Given the description of an element on the screen output the (x, y) to click on. 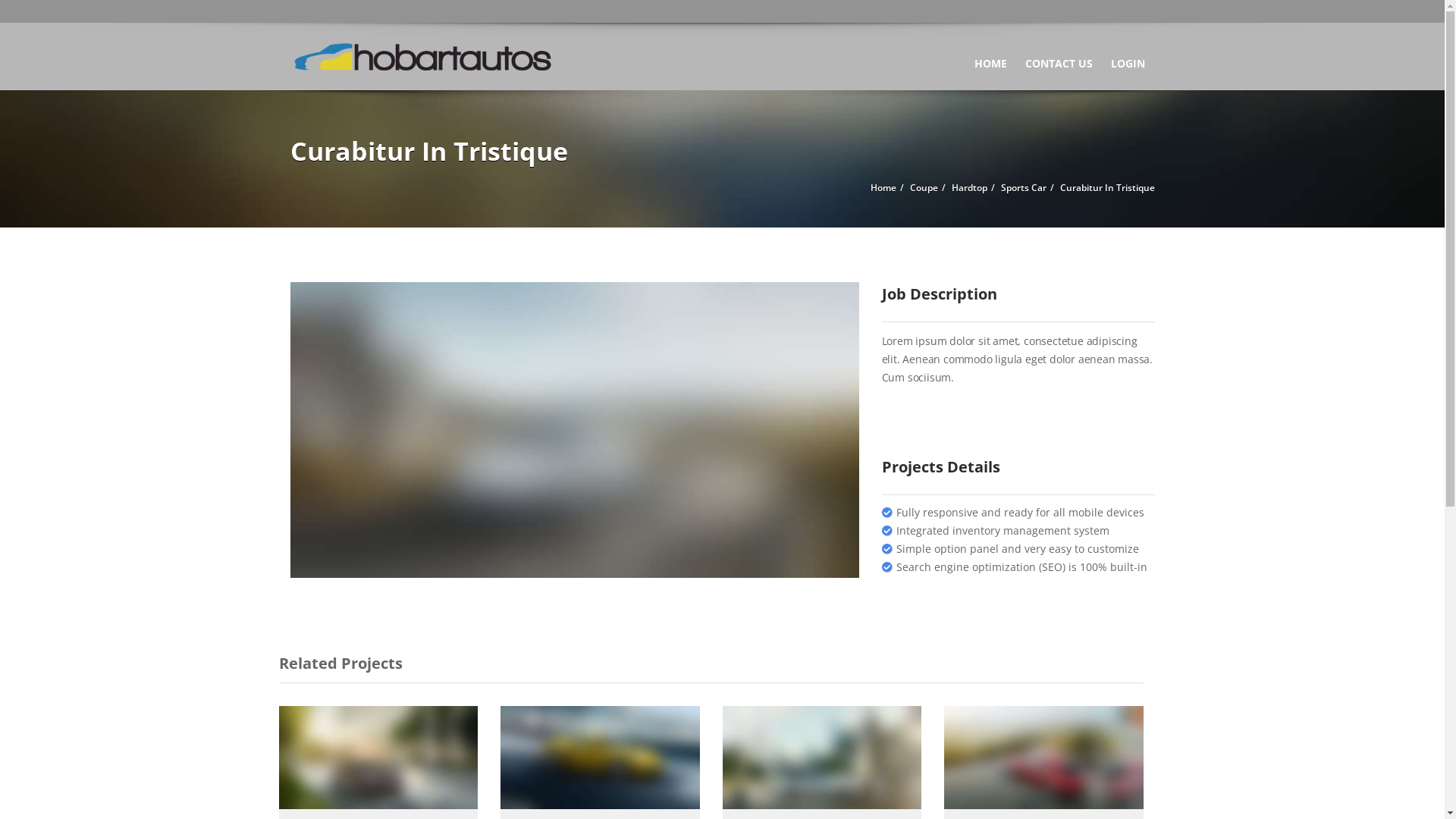
Sports Car Element type: text (1023, 187)
Hardtop Element type: text (968, 187)
HOME Element type: text (989, 56)
Home Element type: text (883, 187)
LOGIN Element type: text (1127, 56)
Coupe Element type: text (924, 187)
CART Element type: text (361, 11)
107 SUNSET BLVD., BEVERLY HILLS, CA 90210 Element type: text (1063, 11)
CONTACT US Element type: text (1058, 56)
1-800-567-0123 Element type: text (921, 11)
LOGIN Element type: text (308, 11)
LANGUAGES Element type: text (427, 11)
